Given the description of an element on the screen output the (x, y) to click on. 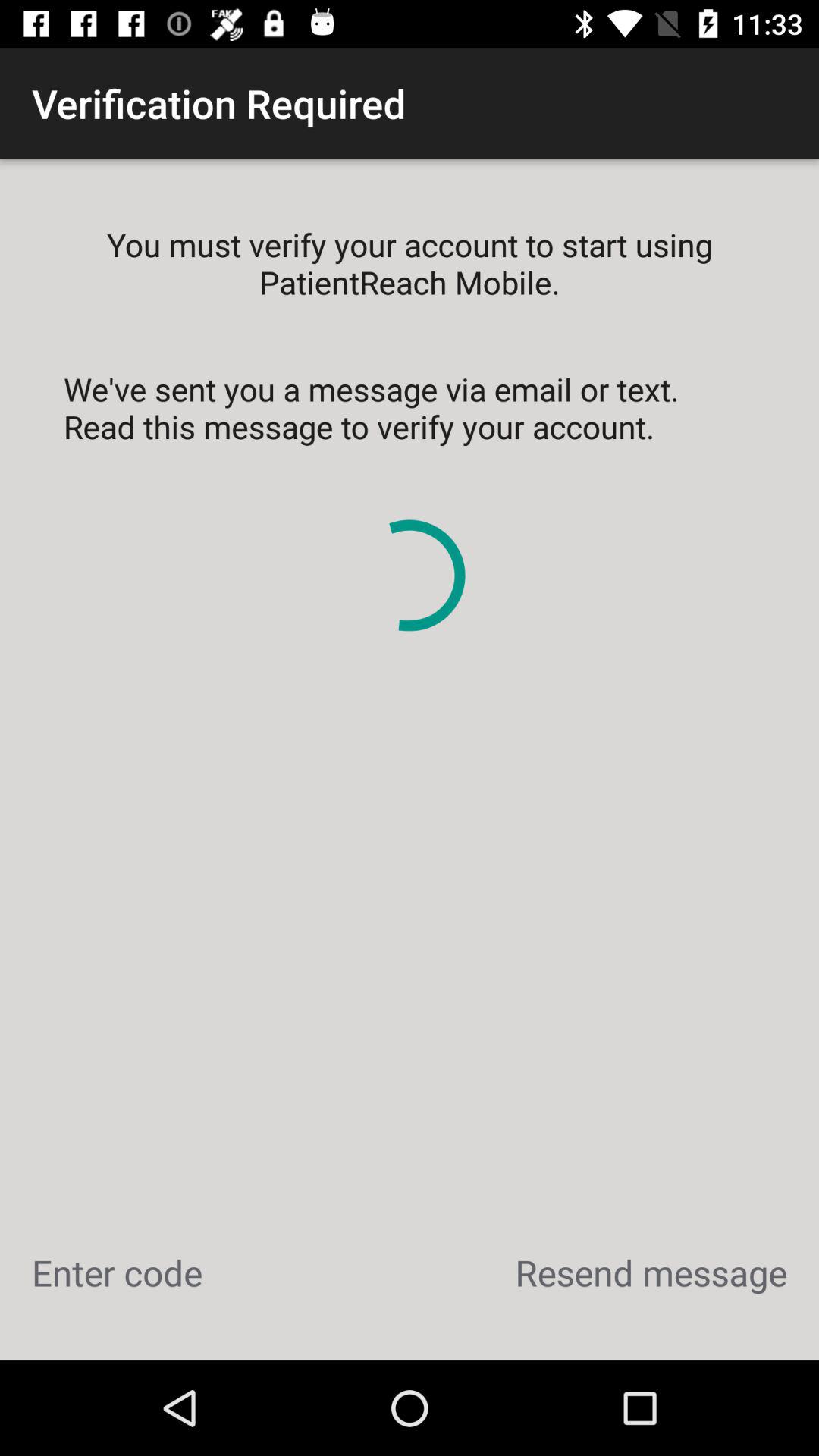
choose the item below we ve sent (651, 1272)
